Given the description of an element on the screen output the (x, y) to click on. 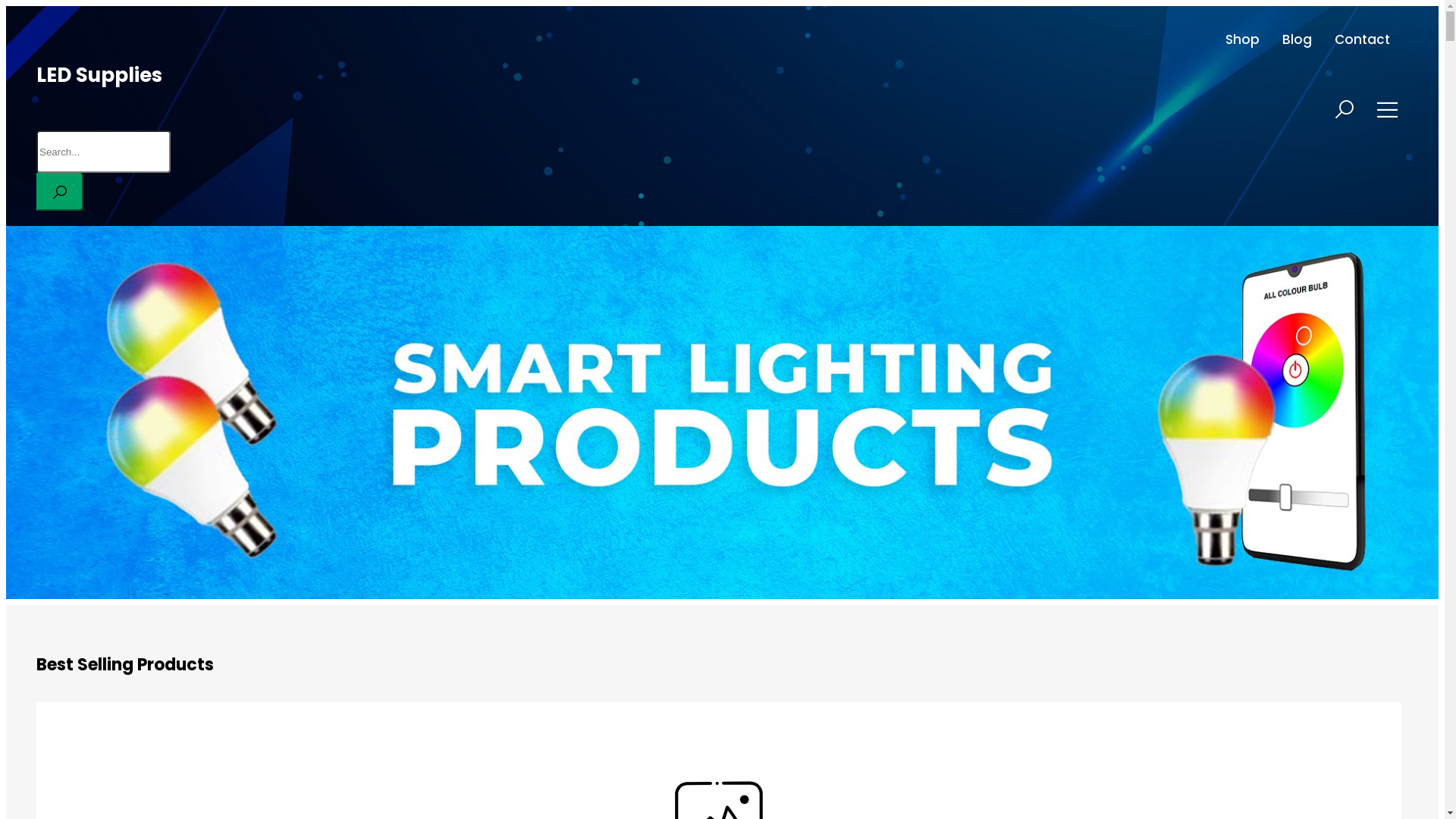
LED Supplies Element type: text (99, 74)
Blog Element type: text (1296, 39)
Contact Element type: text (1362, 39)
Shop Element type: text (1242, 39)
